Given the description of an element on the screen output the (x, y) to click on. 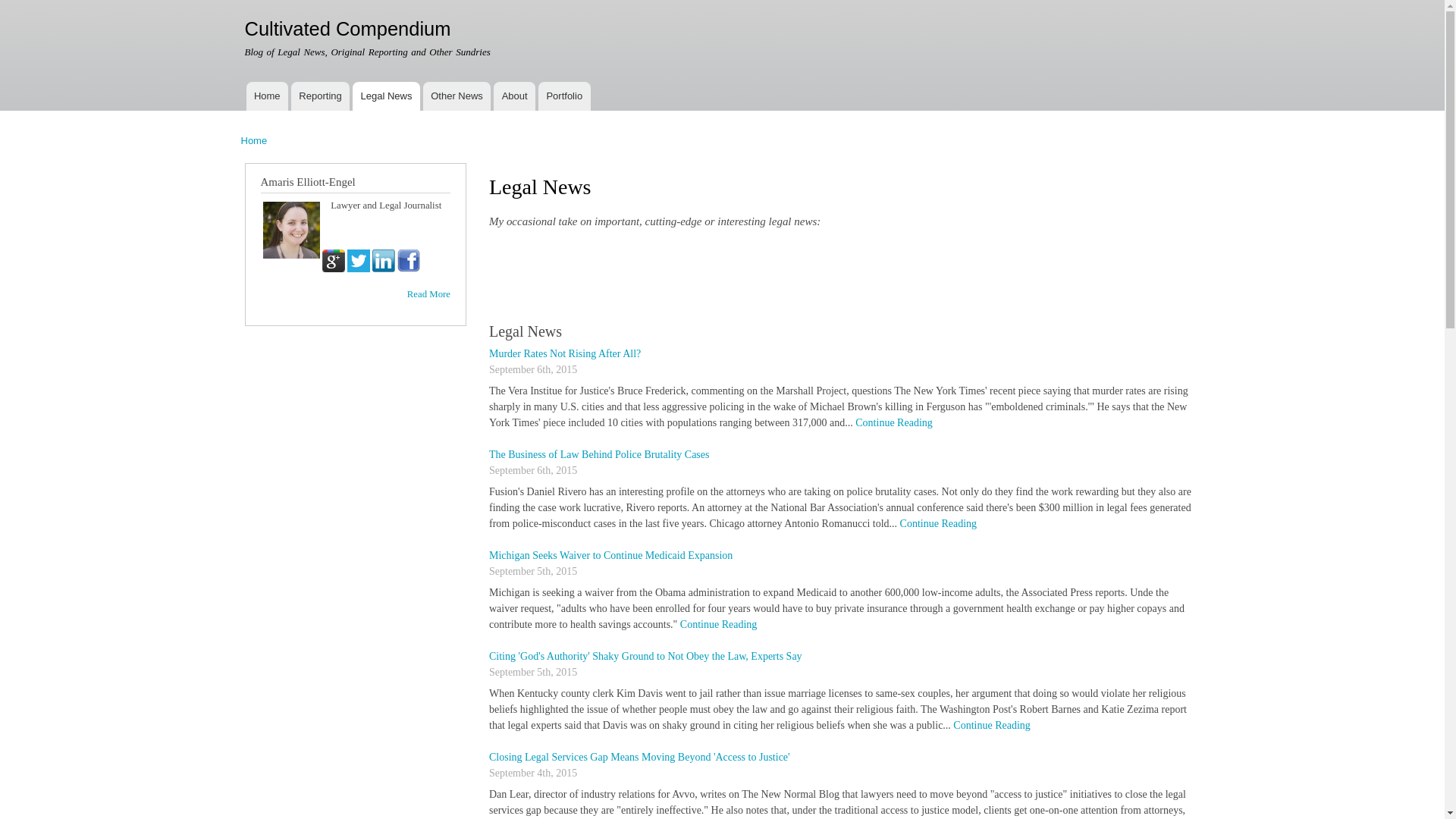
Continue Reading (894, 422)
Home (254, 140)
Murder Rates Not Rising After All? (564, 353)
Cultivated Compendium (346, 28)
Continue Reading (991, 725)
The Business of Law Behind Police Brutality Cases (599, 454)
Cultivated Compendium (266, 95)
Michigan Seeks Waiver to Continue Medicaid Expansion (610, 555)
About (514, 95)
Other News (456, 95)
Continue Reading (718, 624)
Continue Reading (937, 523)
Home (346, 28)
Reporting (320, 95)
